Given the description of an element on the screen output the (x, y) to click on. 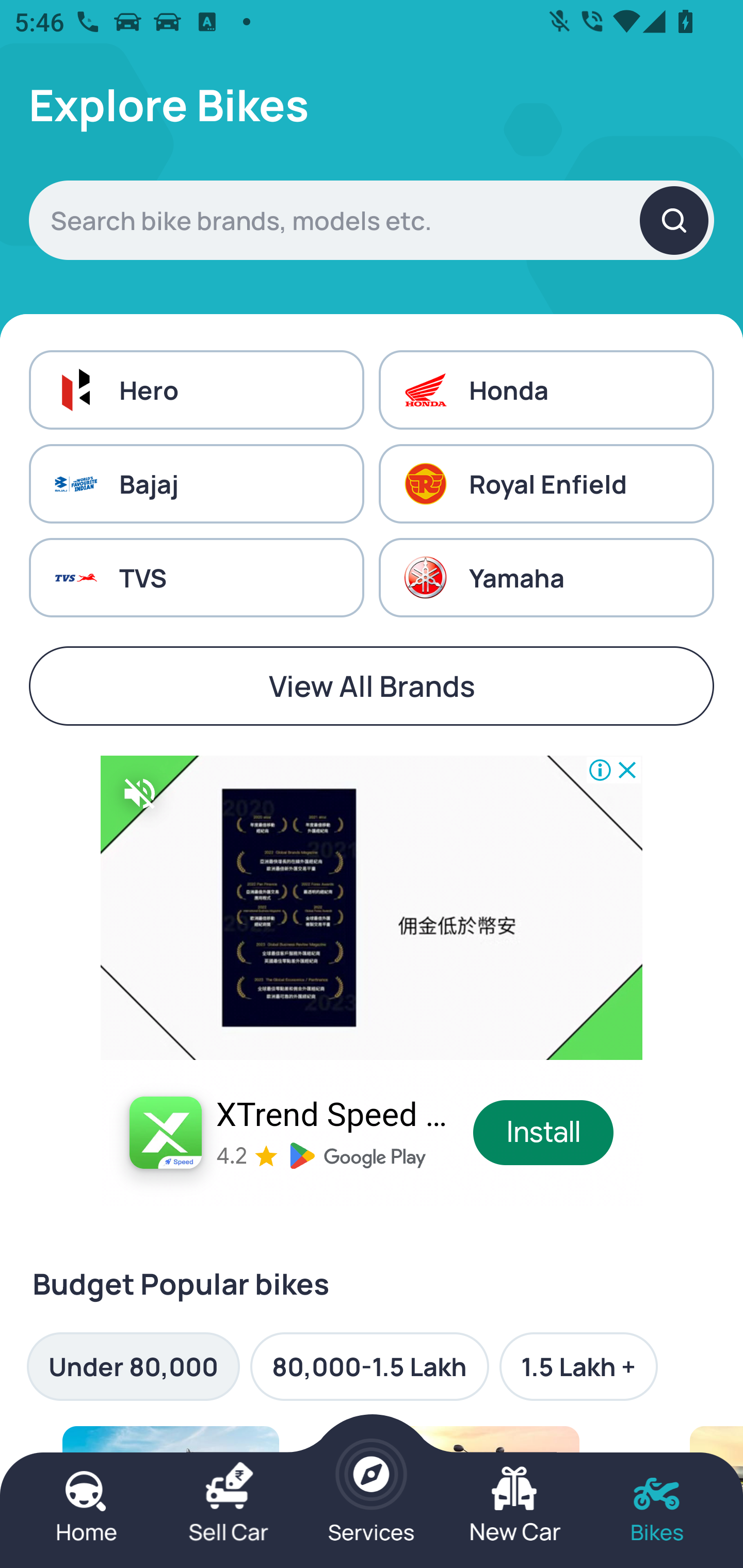
Search bike brands, models etc. (371, 220)
Hero (196, 389)
Honda (546, 389)
Bajaj (196, 483)
Royal Enfield (546, 483)
TVS (196, 577)
Yamaha (546, 577)
View All Brands (371, 685)
Install (543, 1132)
80,000-1.5 Lakh (369, 1366)
1.5 Lakh + (578, 1366)
